Given the description of an element on the screen output the (x, y) to click on. 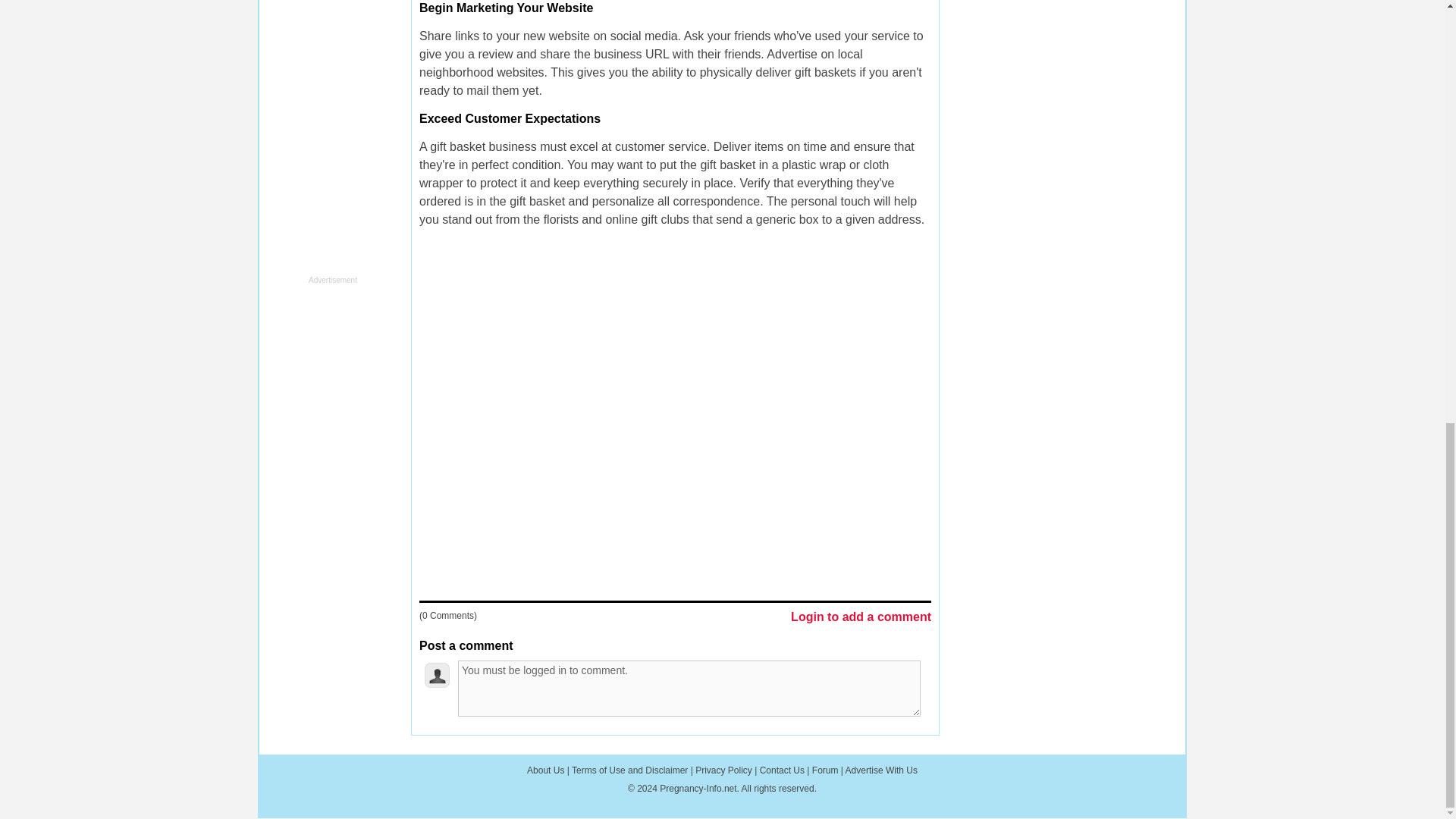
Login to add a comment (860, 617)
LOG IN (600, 766)
